Given the description of an element on the screen output the (x, y) to click on. 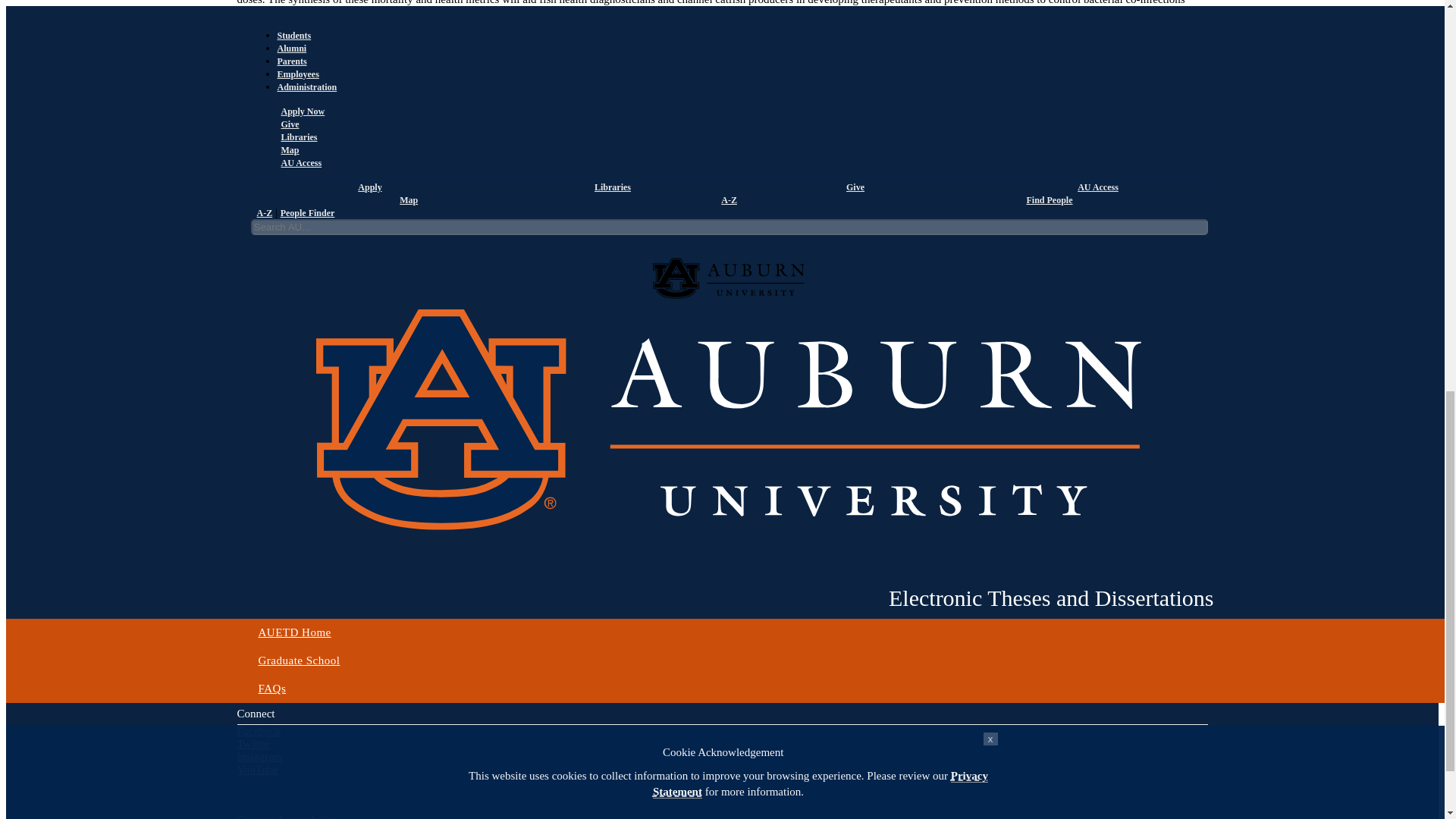
Auburn University Facebook page (258, 730)
Auburn University Instagram (258, 756)
Auburn University Twitter (252, 743)
Auburn University YouTube channel (256, 769)
